Given the description of an element on the screen output the (x, y) to click on. 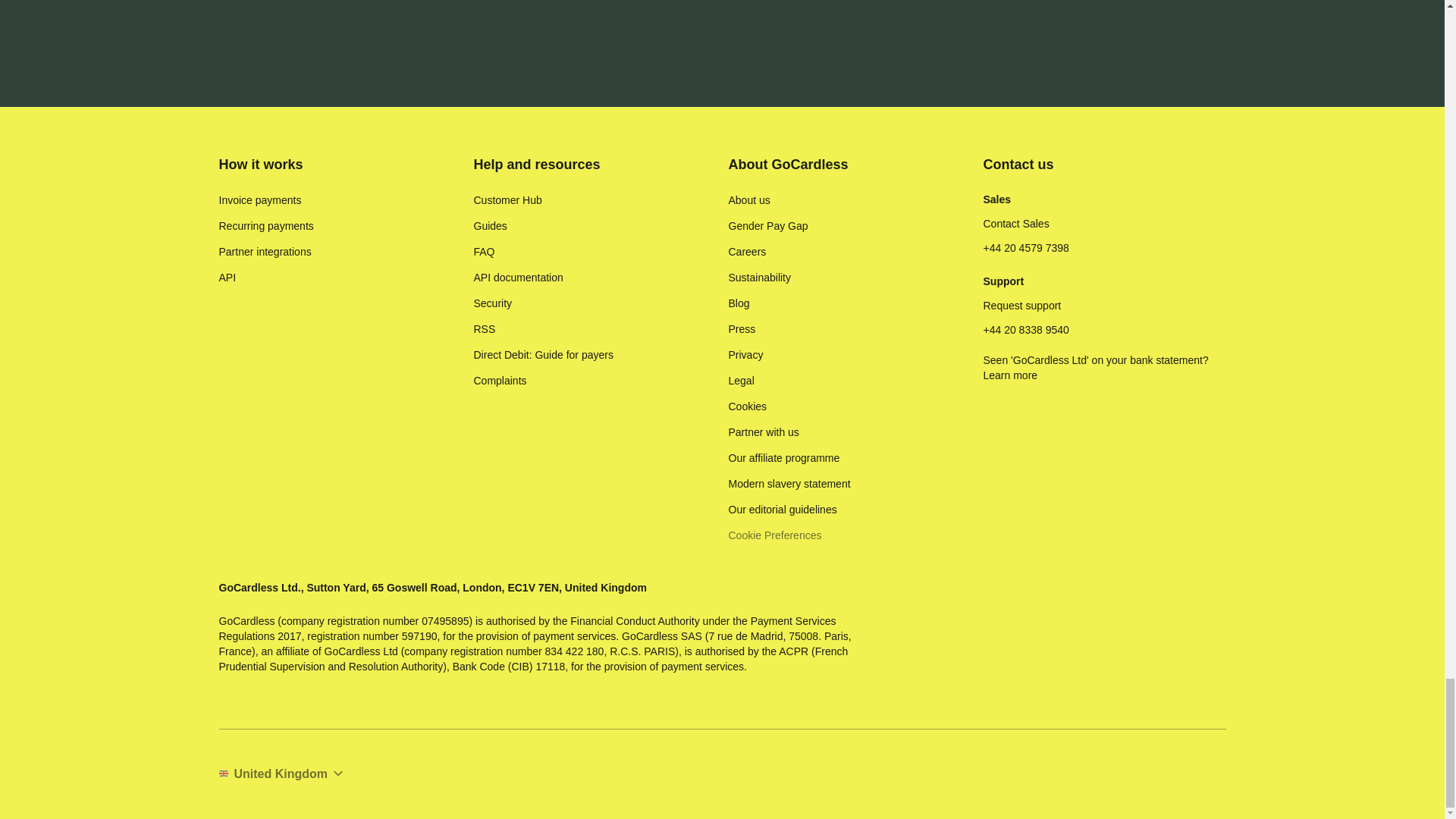
Privacy (745, 354)
Gender Pay Gap (768, 225)
Security (492, 303)
Direct Debit: Guide for payers (542, 354)
API documentation (517, 277)
Invoice payments (259, 200)
Sustainability (759, 277)
Careers (746, 251)
Customer Hub (507, 200)
Complaints (499, 380)
Recurring payments (265, 225)
API (226, 277)
FAQ (484, 251)
Press (741, 328)
RSS (484, 328)
